Given the description of an element on the screen output the (x, y) to click on. 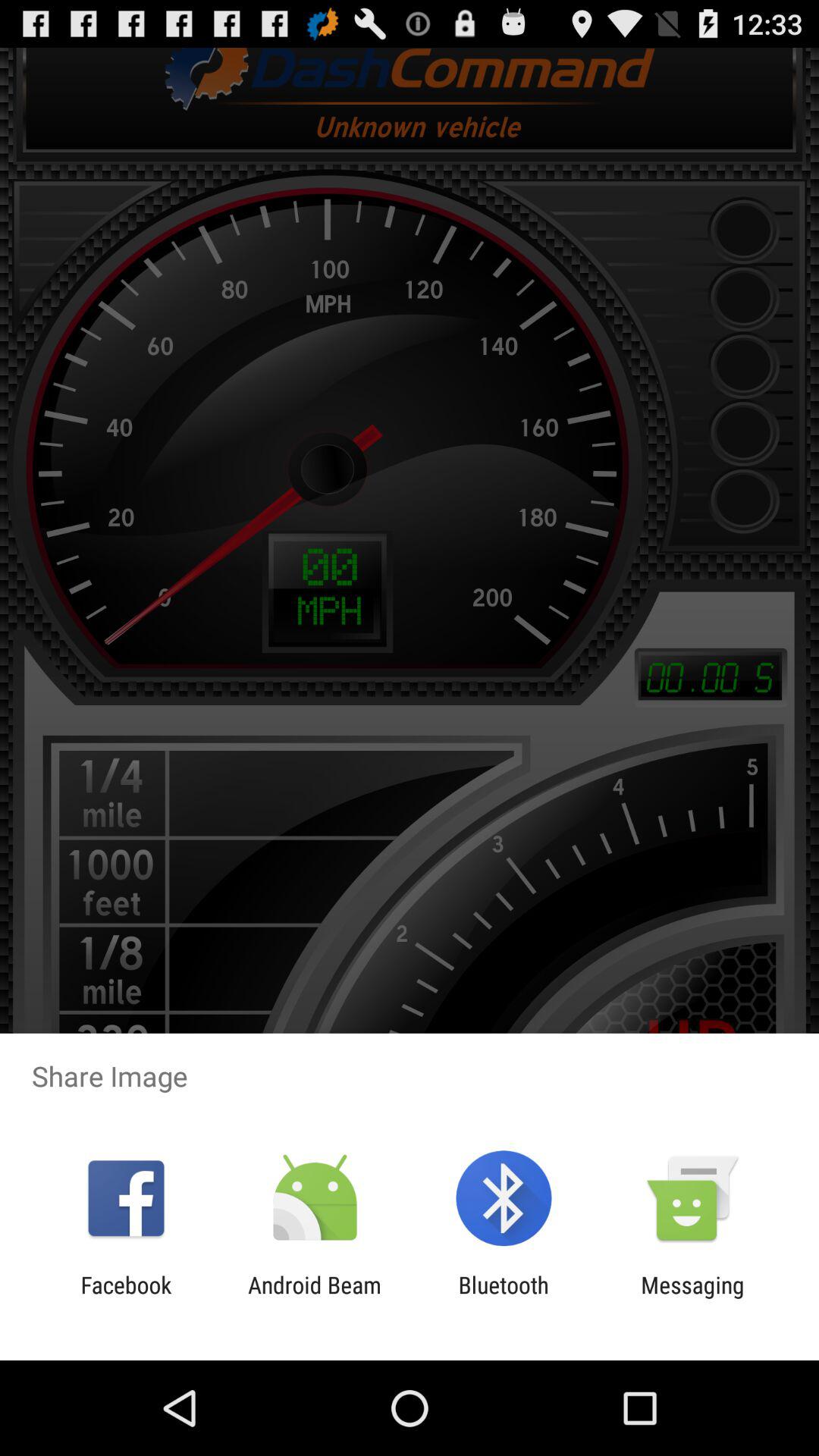
tap the item to the left of bluetooth app (314, 1298)
